Given the description of an element on the screen output the (x, y) to click on. 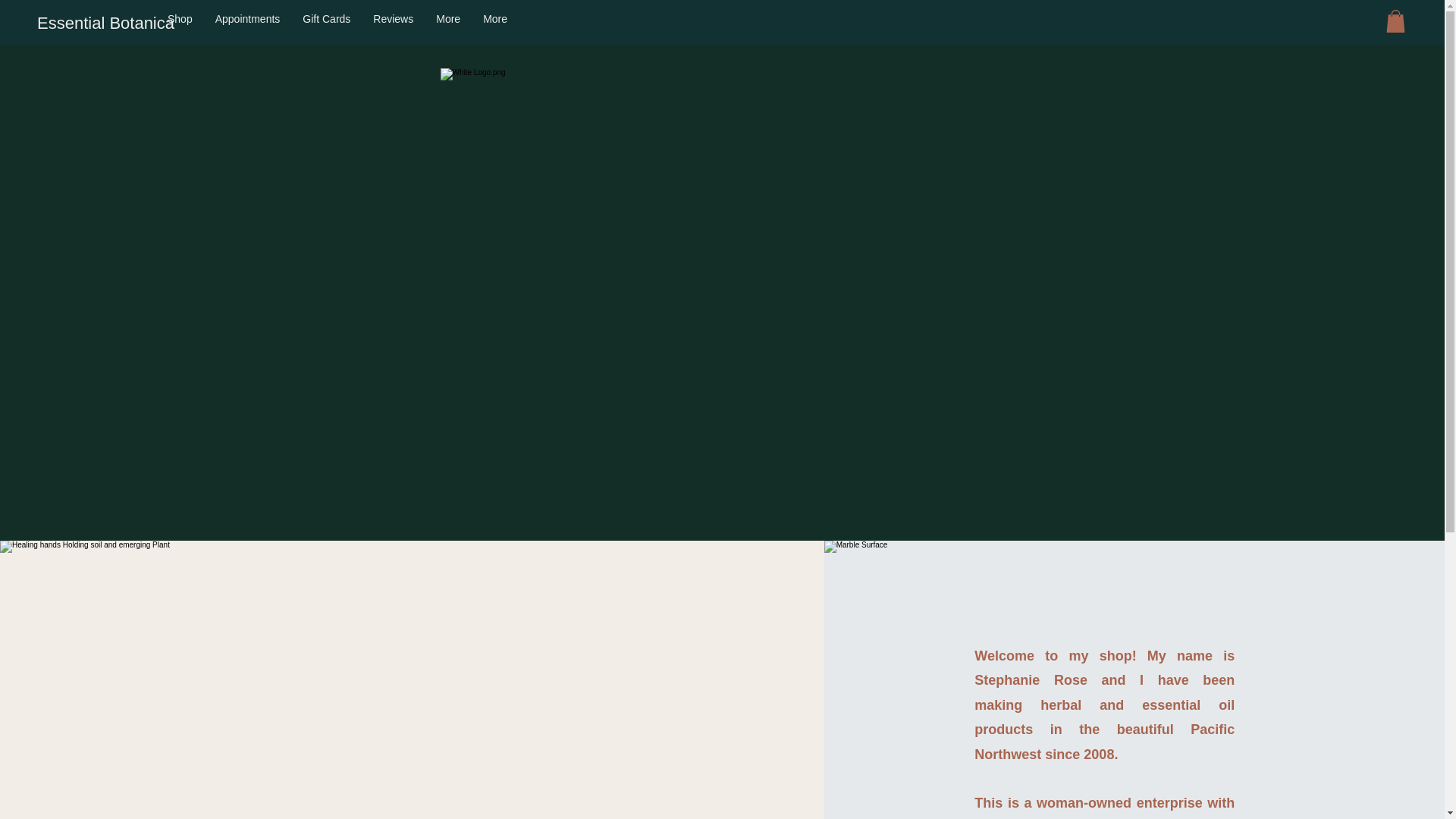
Reviews (393, 24)
Appointments (247, 24)
Essential Botanica (105, 23)
Gift Cards (326, 24)
Shop (179, 24)
